Given the description of an element on the screen output the (x, y) to click on. 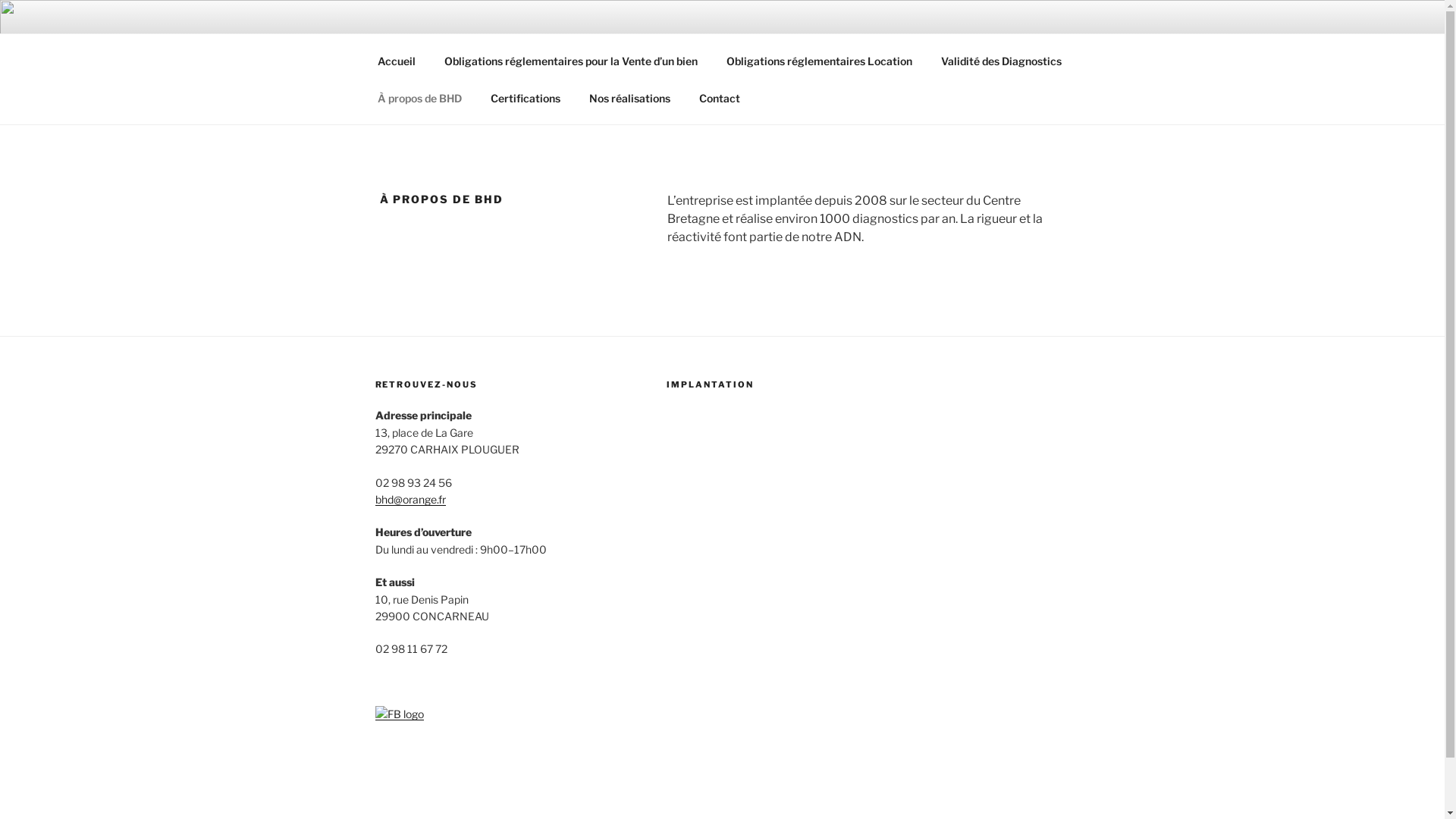
Accueil Element type: text (396, 60)
bhd@orange.fr Element type: text (409, 498)
Certifications Element type: text (525, 97)
Contact Element type: text (719, 97)
DIAGNOSTIC IMMOBILIER Element type: text (581, 52)
